Given the description of an element on the screen output the (x, y) to click on. 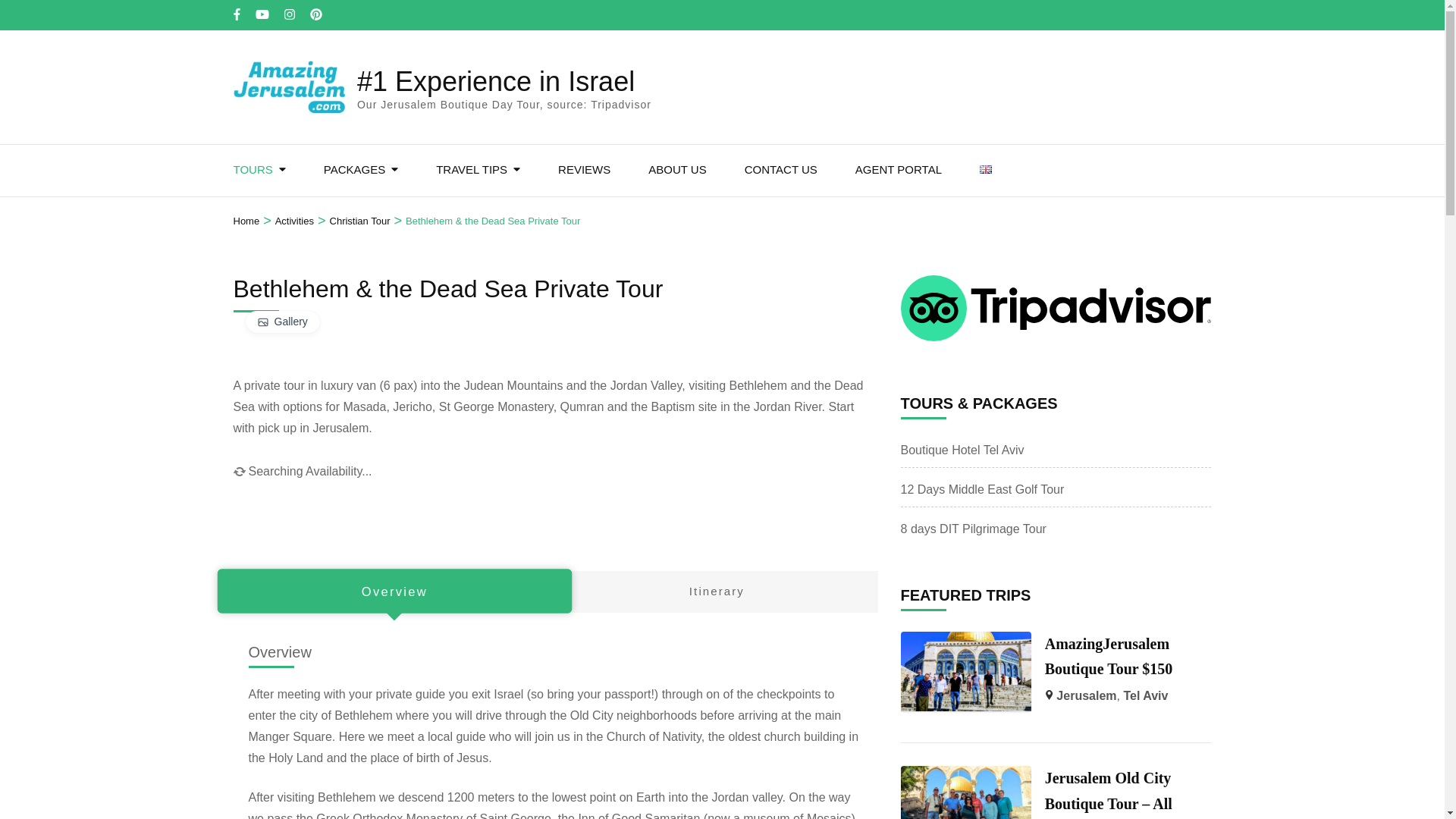
PACKAGES (354, 170)
